Given the description of an element on the screen output the (x, y) to click on. 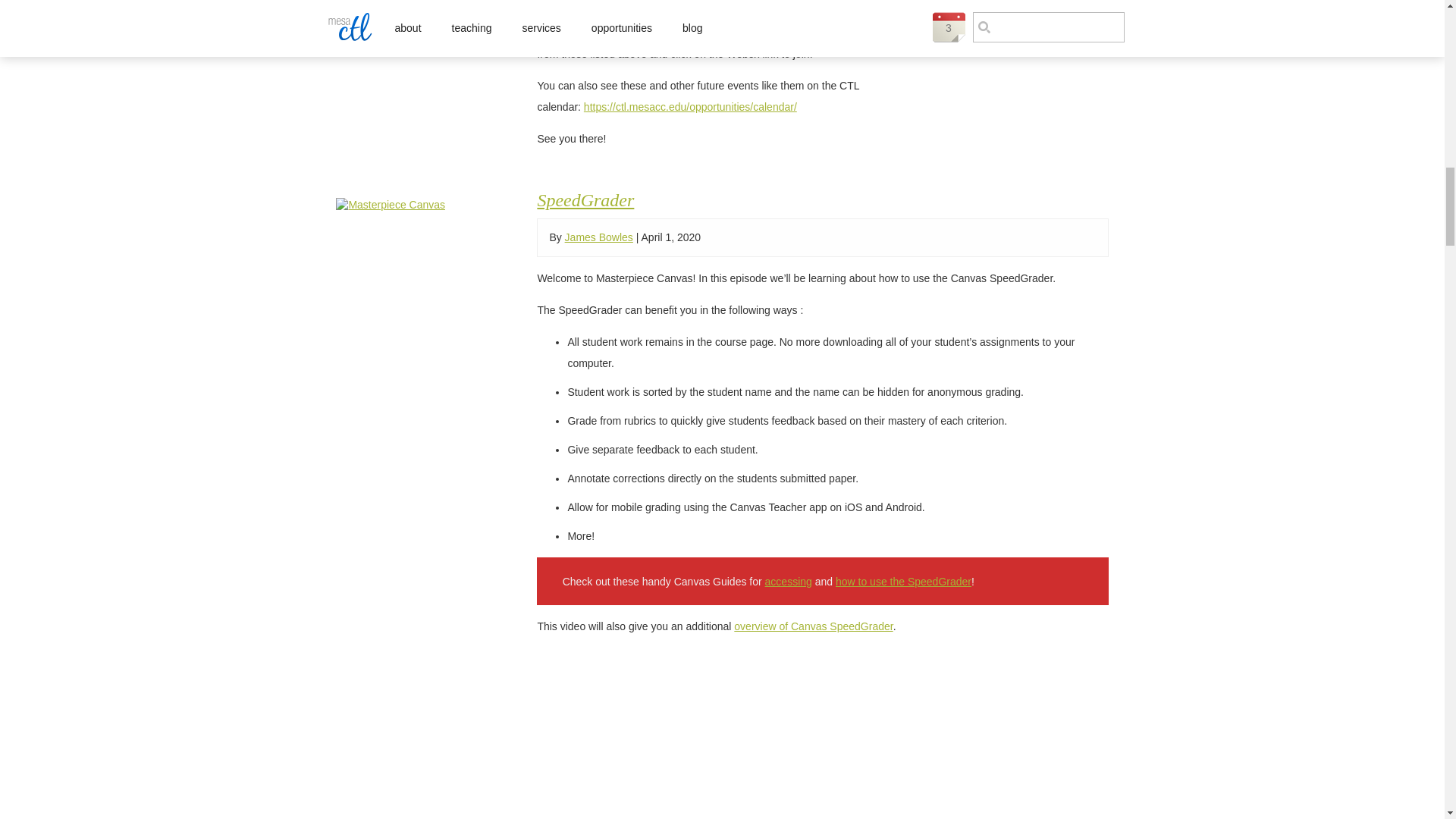
SpeedGrader (585, 199)
SpeedGrader (420, 205)
View all posts by James Bowles (598, 236)
